Given the description of an element on the screen output the (x, y) to click on. 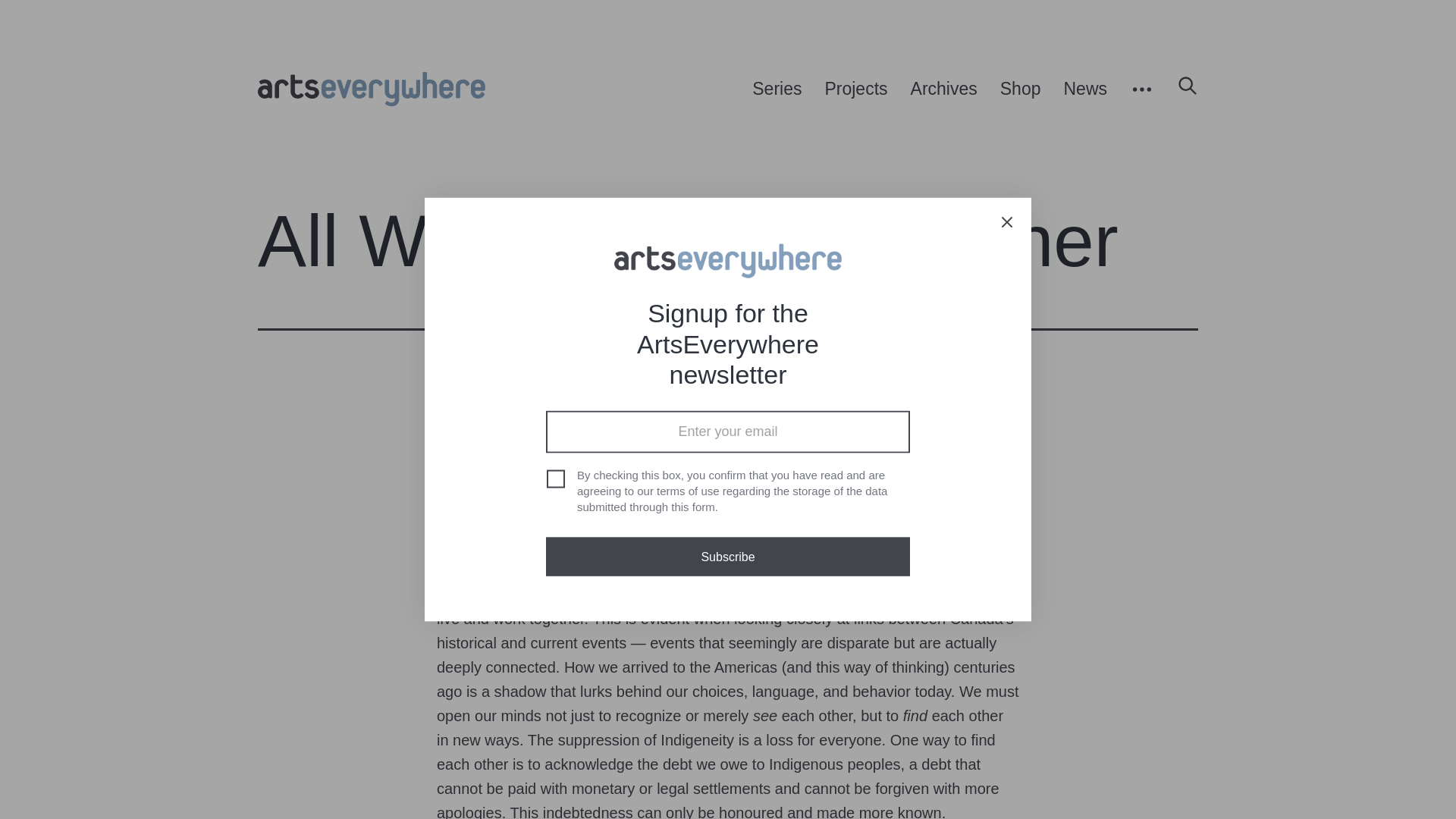
Shop Element type: text (1020, 89)
[ii] Element type: text (985, 472)
Projects Element type: text (855, 89)
News Element type: text (1084, 89)
ArtsEverywhere Element type: text (371, 88)
[i] Element type: text (629, 422)
Archives Element type: text (943, 89)
Series Element type: text (776, 89)
Subscribe Element type: text (728, 556)
Skip Navigation Element type: text (257, 88)
Search Element type: text (1181, 89)
